Given the description of an element on the screen output the (x, y) to click on. 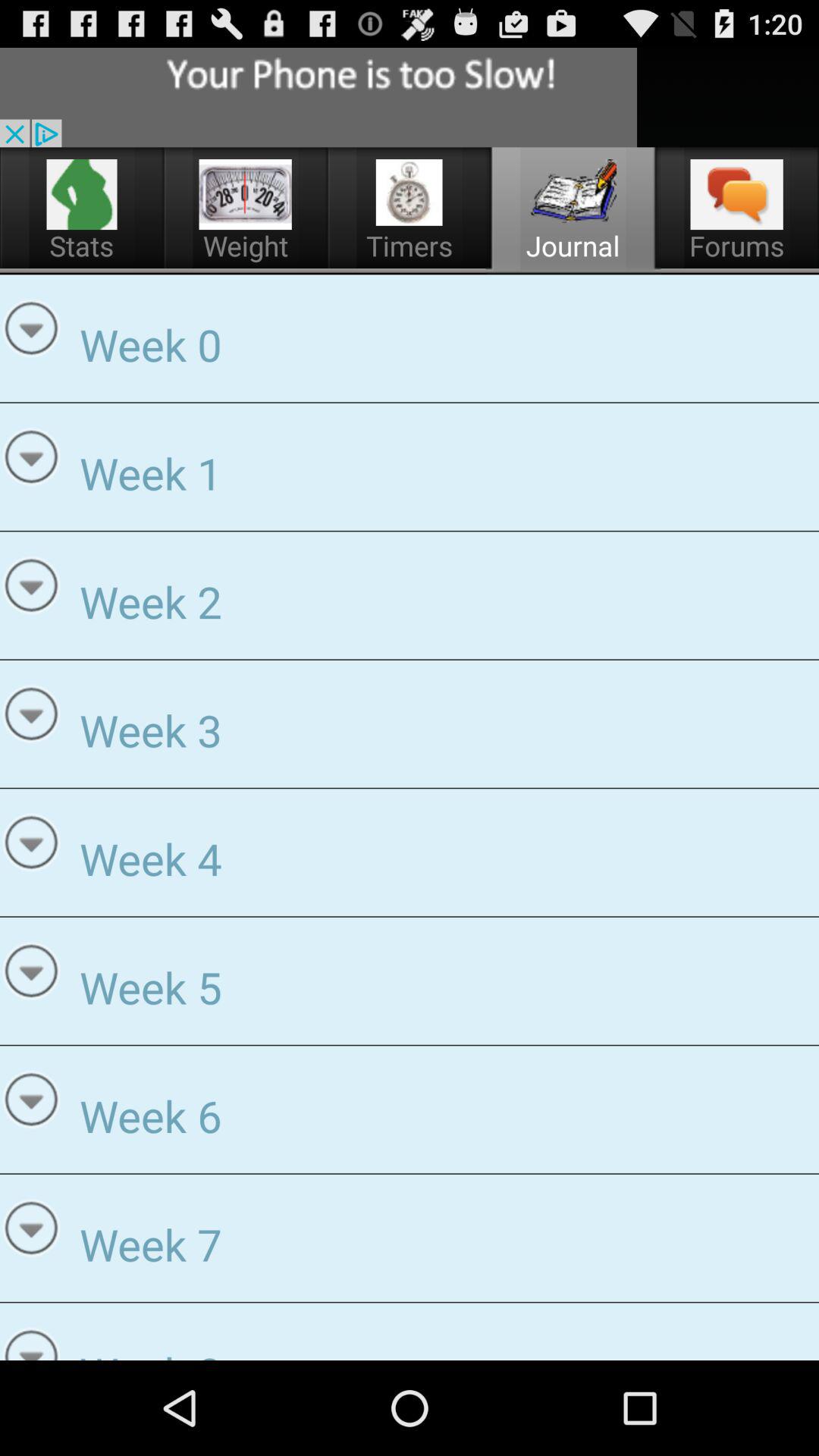
it is clickable (245, 194)
click on forums icon (736, 194)
